Given the description of an element on the screen output the (x, y) to click on. 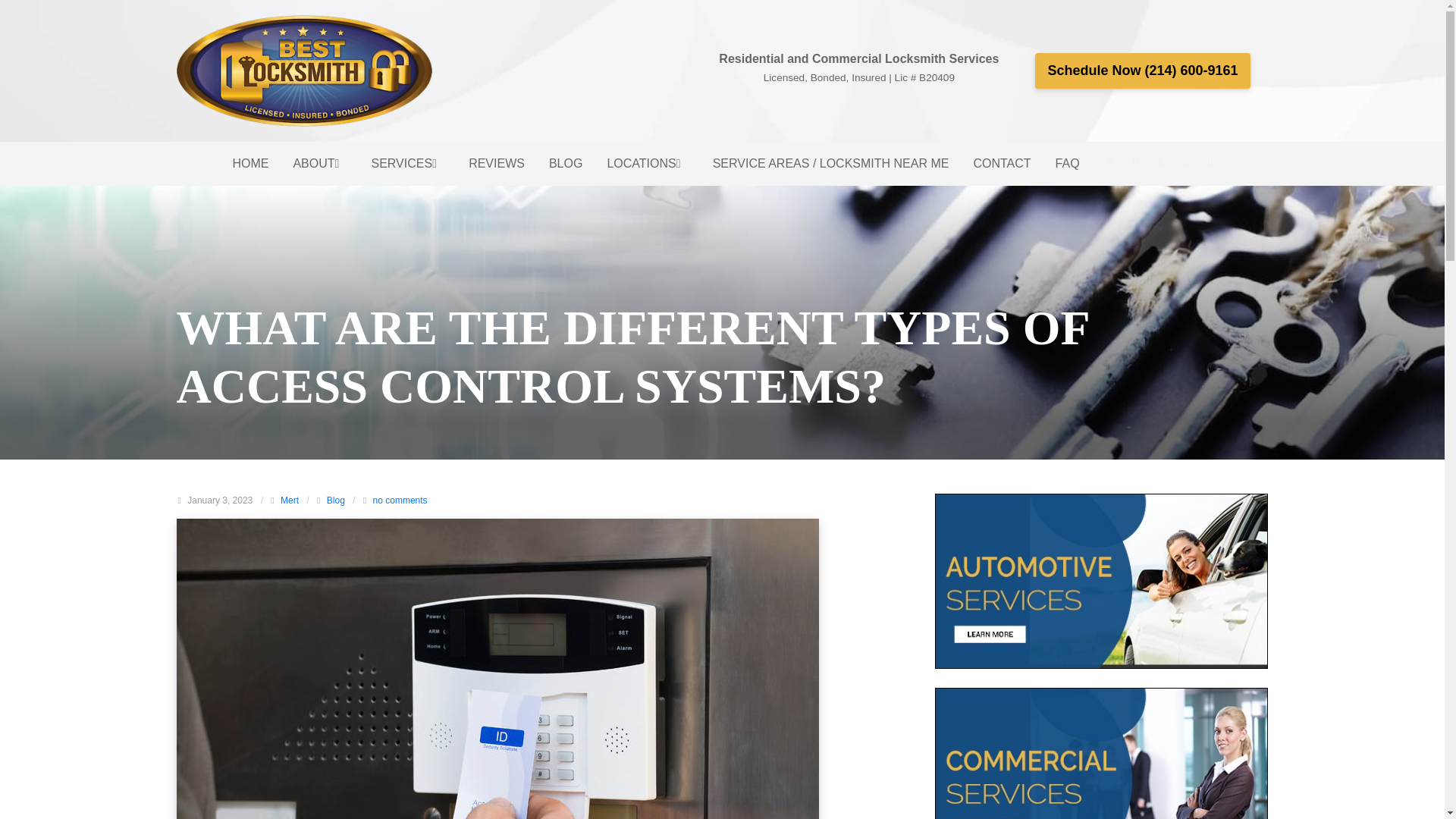
REVIEWS (497, 163)
LOCATIONS (647, 163)
Yelp (1185, 161)
SERVICES (408, 163)
FAQ (1067, 163)
BLOG (565, 163)
Twitter (1161, 161)
View all posts by Mert (289, 500)
ABOUT (319, 163)
HOME (250, 163)
CONTACT (1001, 163)
YouTube (1211, 161)
Instagram (1135, 161)
Best Locksmith (304, 70)
Facebook (1110, 161)
